Given the description of an element on the screen output the (x, y) to click on. 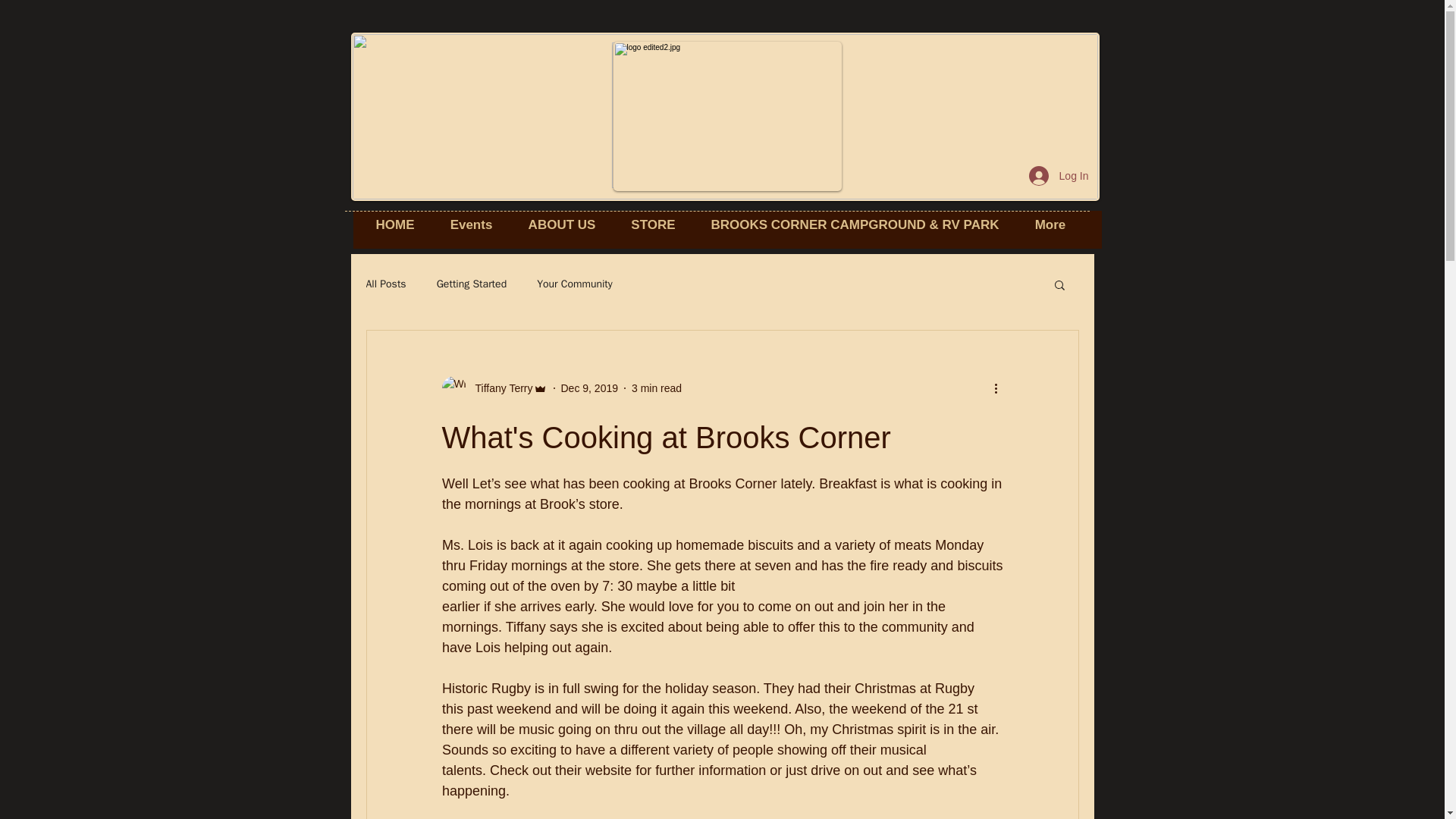
Events (470, 224)
Tiffany Terry (498, 388)
STORE (653, 224)
RM.png (712, 115)
3 min read (656, 387)
ABOUT US (561, 224)
Tiffany Terry (494, 387)
All Posts (385, 284)
Dec 9, 2019 (589, 387)
Log In (1058, 175)
Getting Started (471, 284)
Your Community (574, 284)
HOME (394, 224)
